Given the description of an element on the screen output the (x, y) to click on. 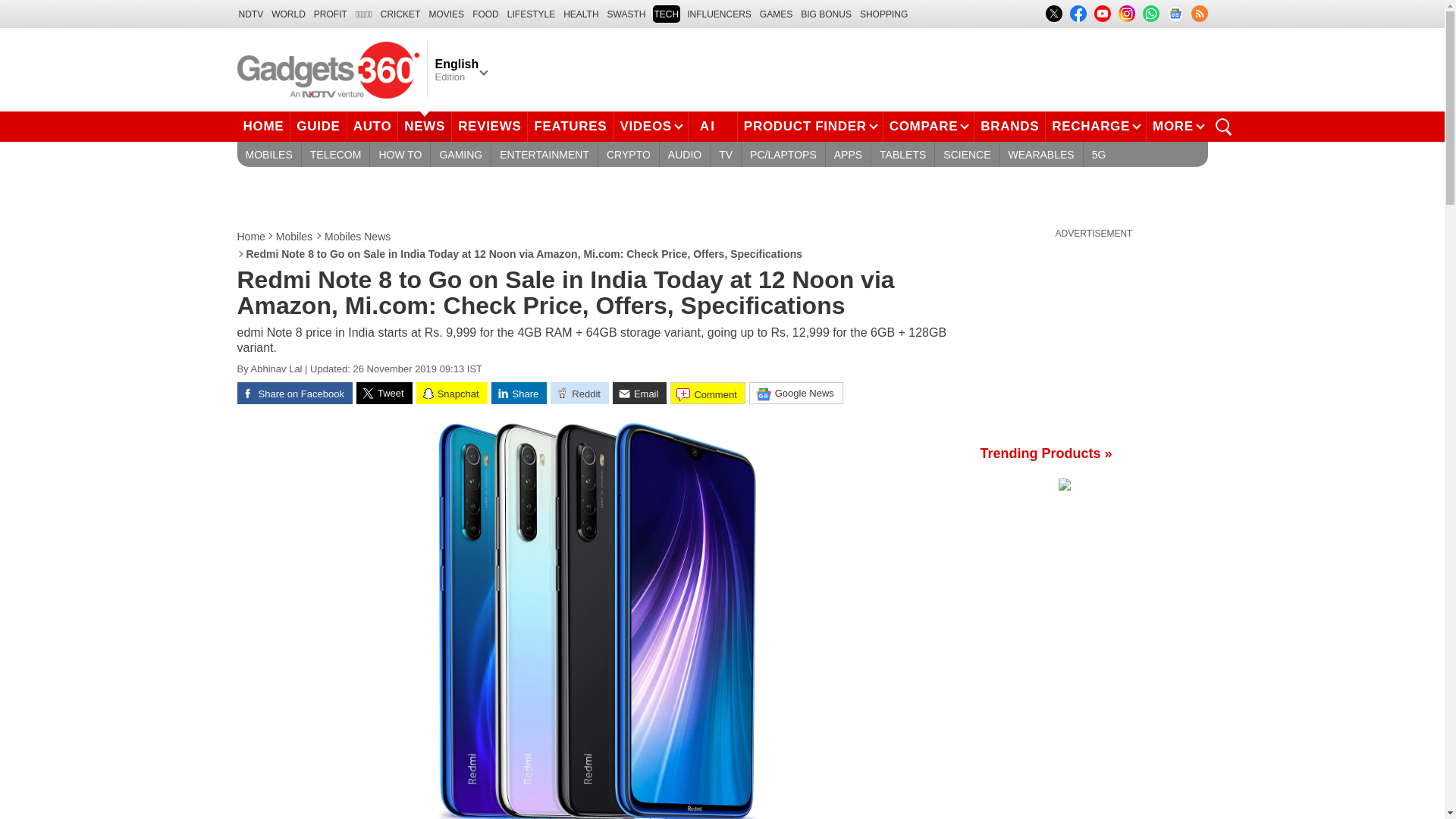
SHOPPING (883, 13)
MOVIES (445, 13)
NDTV (249, 13)
INFLUENCERS (718, 13)
VIDEOS (649, 126)
NDTV (249, 13)
SWASTH (626, 13)
HEALTH (580, 13)
HEALTH (580, 13)
LIFESTYLE (530, 13)
HOME (262, 126)
Games (775, 13)
Profit (331, 13)
GAMES (775, 13)
BIG BONUS (826, 13)
